Given the description of an element on the screen output the (x, y) to click on. 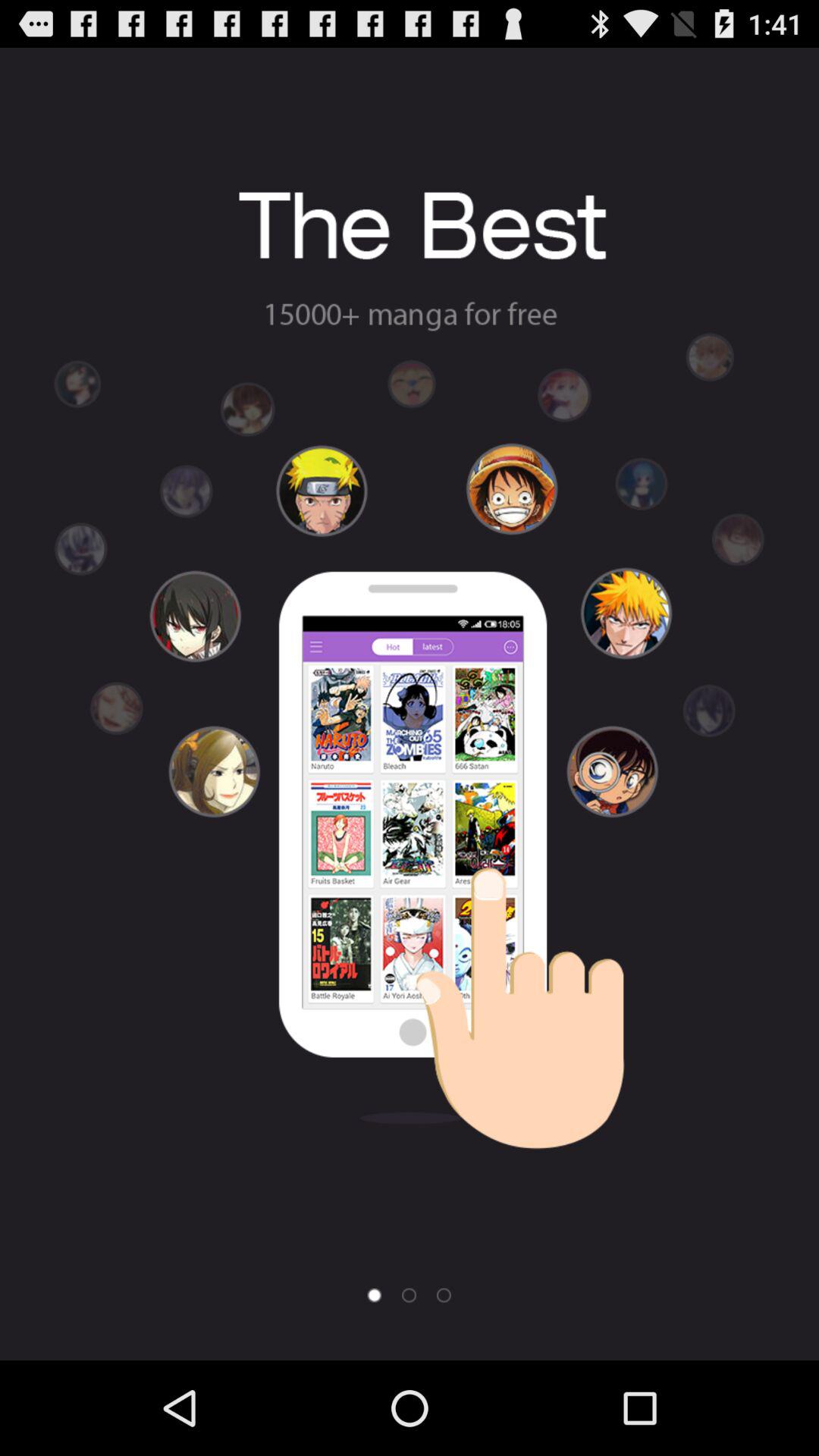
next page (408, 1294)
